Given the description of an element on the screen output the (x, y) to click on. 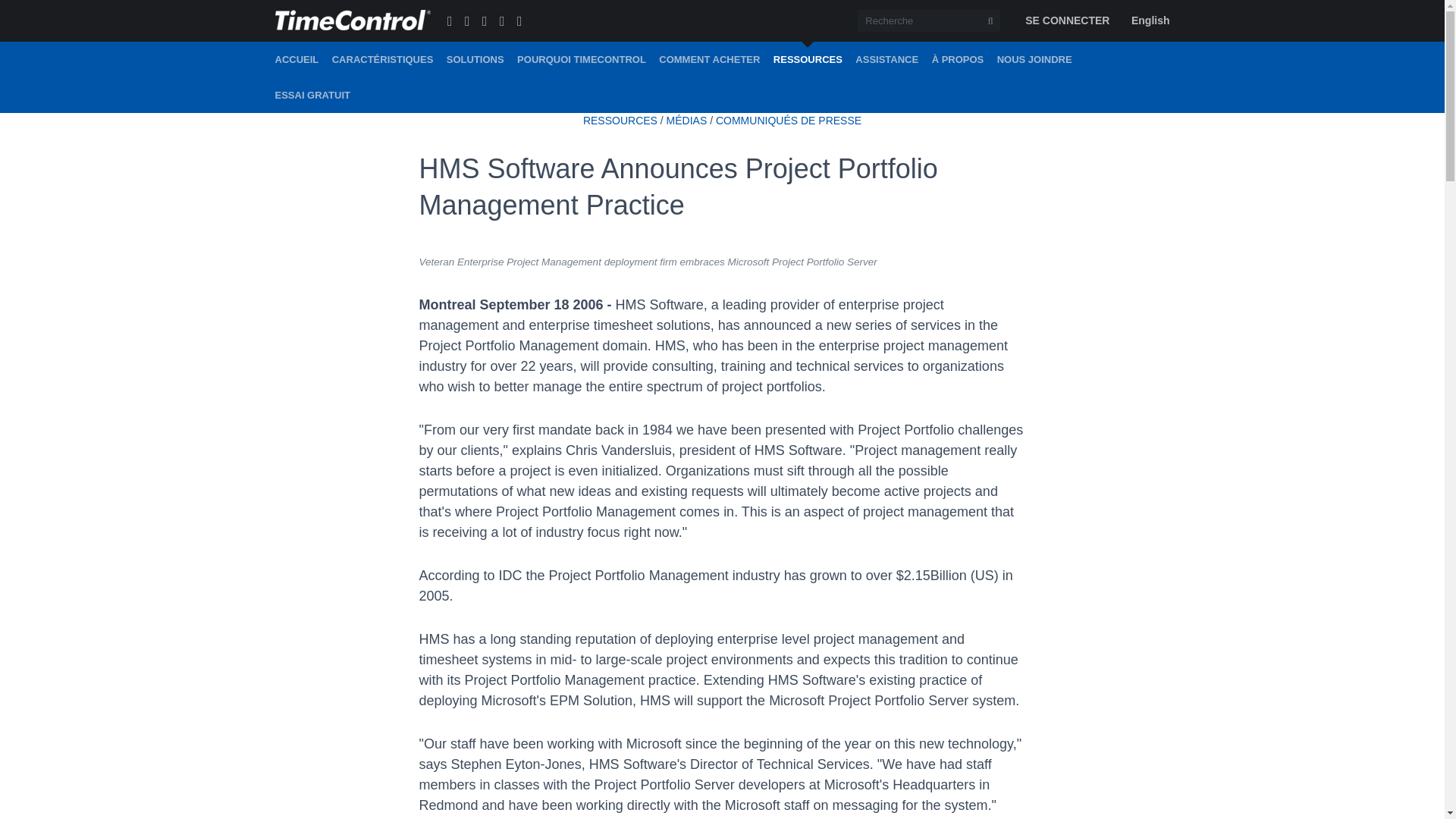
POURQUOI TIMECONTROL (581, 58)
RESSOURCES (808, 58)
NOUS JOINDRE (1034, 58)
SOLUTIONS (474, 58)
COMMENT ACHETER (709, 58)
ASSISTANCE (887, 58)
ACCUEIL (296, 58)
ESSAI GRATUIT (312, 94)
RESSOURCES (620, 120)
